Given the description of an element on the screen output the (x, y) to click on. 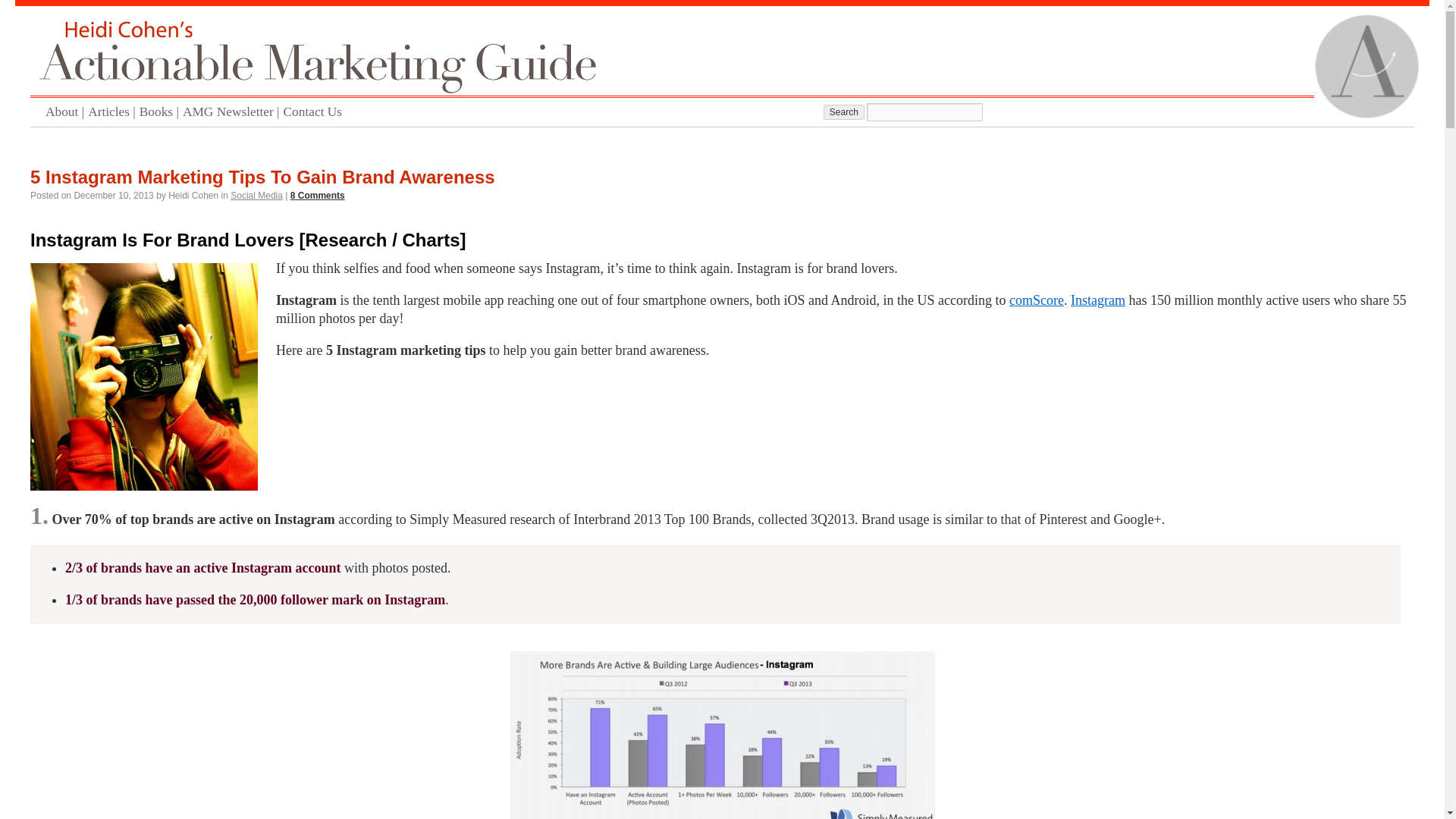
Search (844, 111)
AMG Newsletter (233, 111)
Articles (113, 111)
Social Media (256, 195)
8 Comments (317, 195)
Contact Us (314, 111)
About (66, 111)
Instagram (1097, 299)
comScore (1036, 299)
Search (844, 111)
